Given the description of an element on the screen output the (x, y) to click on. 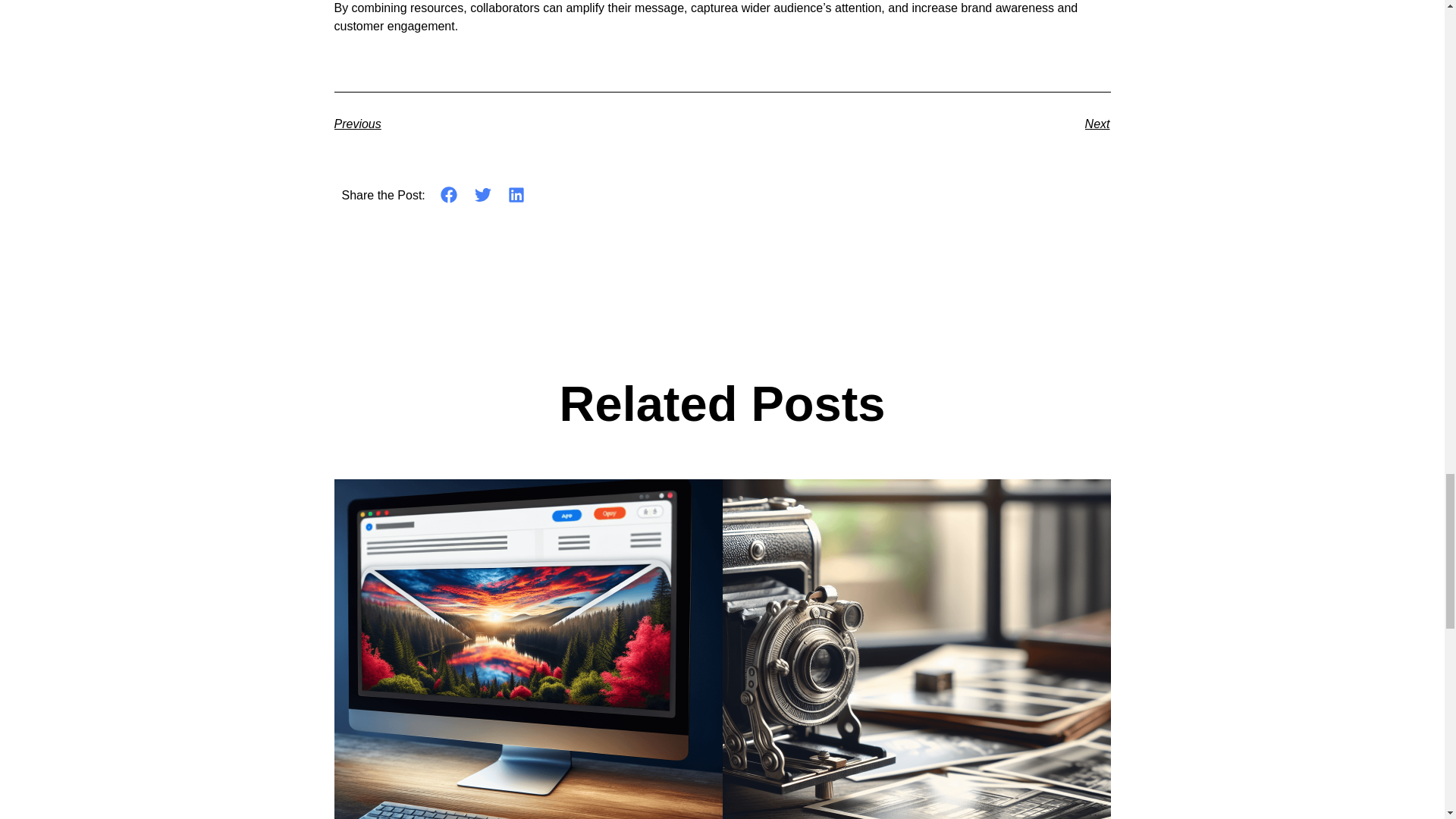
Previous (527, 124)
Next (915, 124)
